Given the description of an element on the screen output the (x, y) to click on. 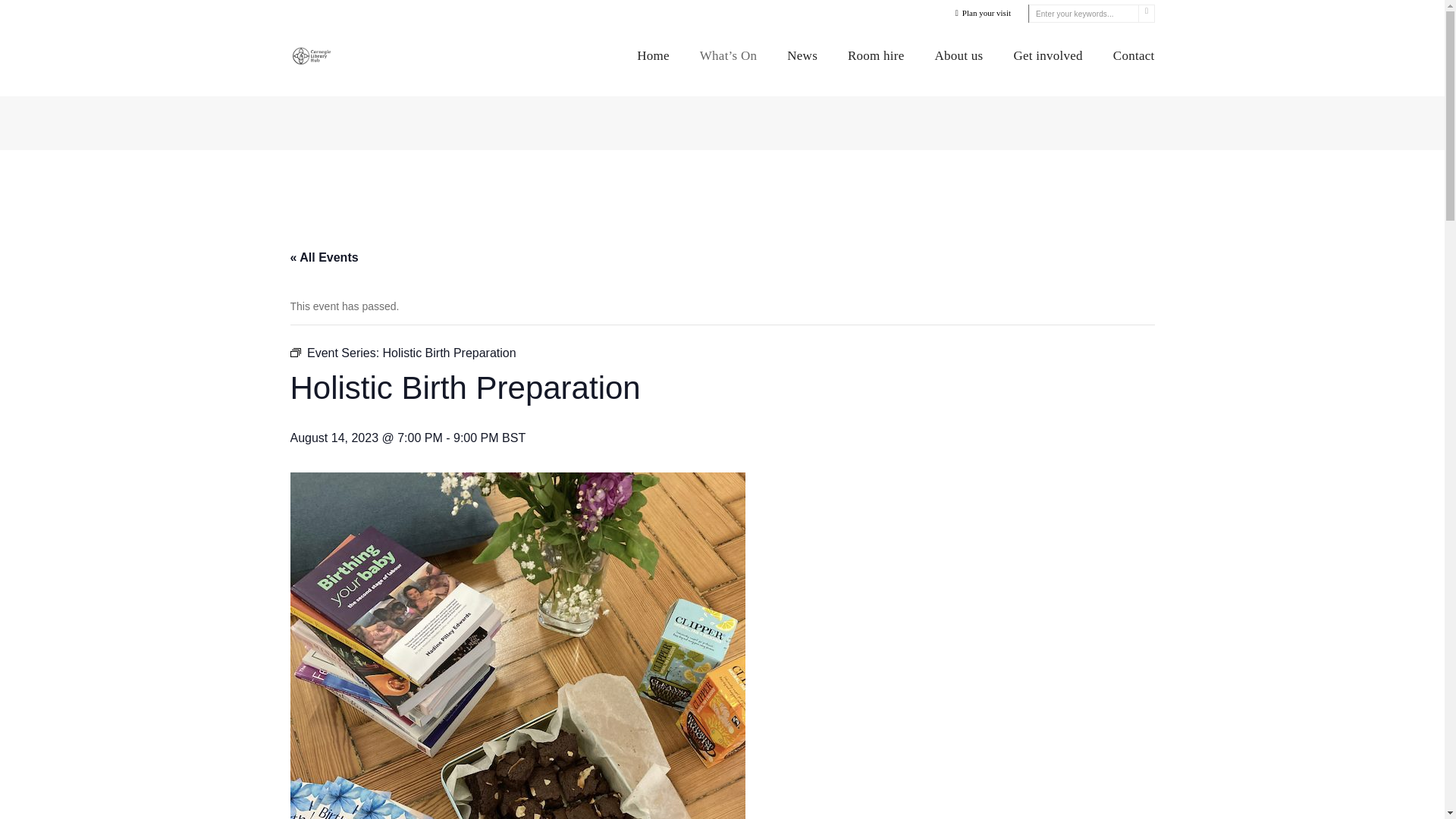
Holistic Birth Preparation (449, 352)
Plan your visit (981, 12)
Carnegie Library Hub (313, 54)
Room hire (875, 55)
Get involved (1047, 55)
